Given the description of an element on the screen output the (x, y) to click on. 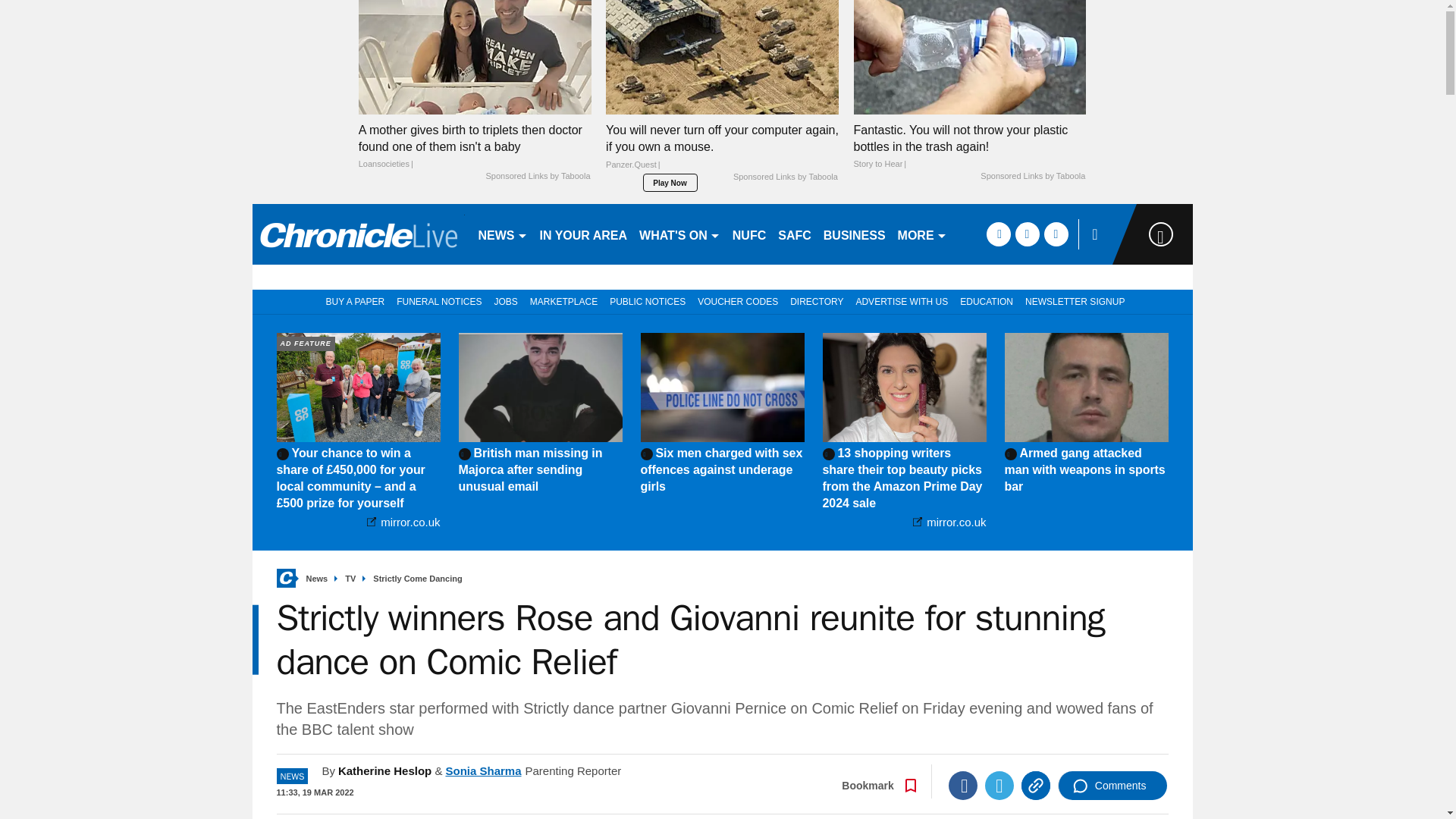
instagram (1055, 233)
IN YOUR AREA (583, 233)
Facebook (962, 785)
nechronicle (357, 233)
Sponsored Links by Taboola (785, 176)
NEWS (501, 233)
twitter (1026, 233)
Comments (1112, 785)
Twitter (999, 785)
Play Now (670, 182)
Sponsored Links by Taboola (536, 176)
WHAT'S ON (679, 233)
